Given the description of an element on the screen output the (x, y) to click on. 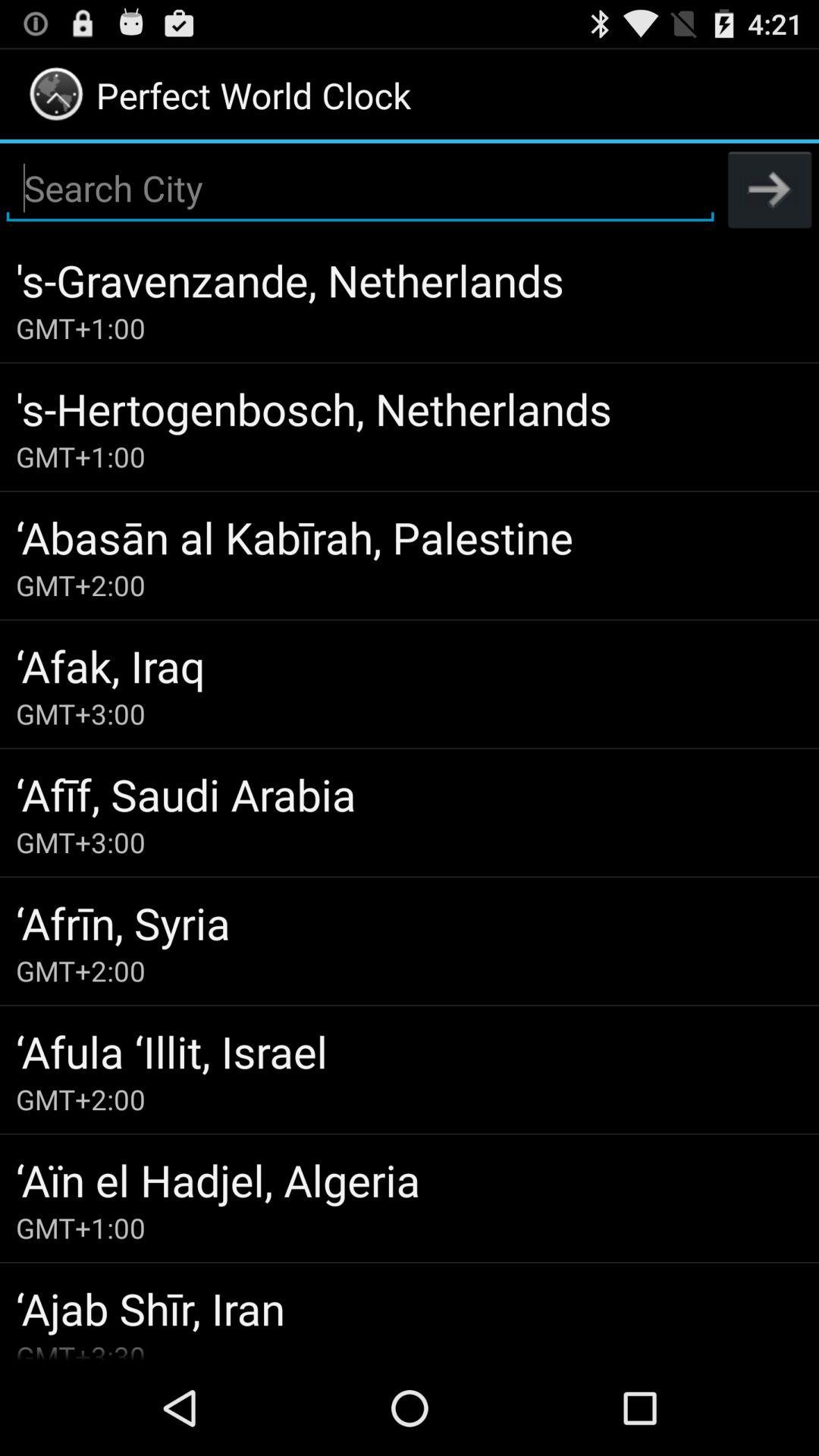
select item above gmt+1:00 (409, 1179)
